Given the description of an element on the screen output the (x, y) to click on. 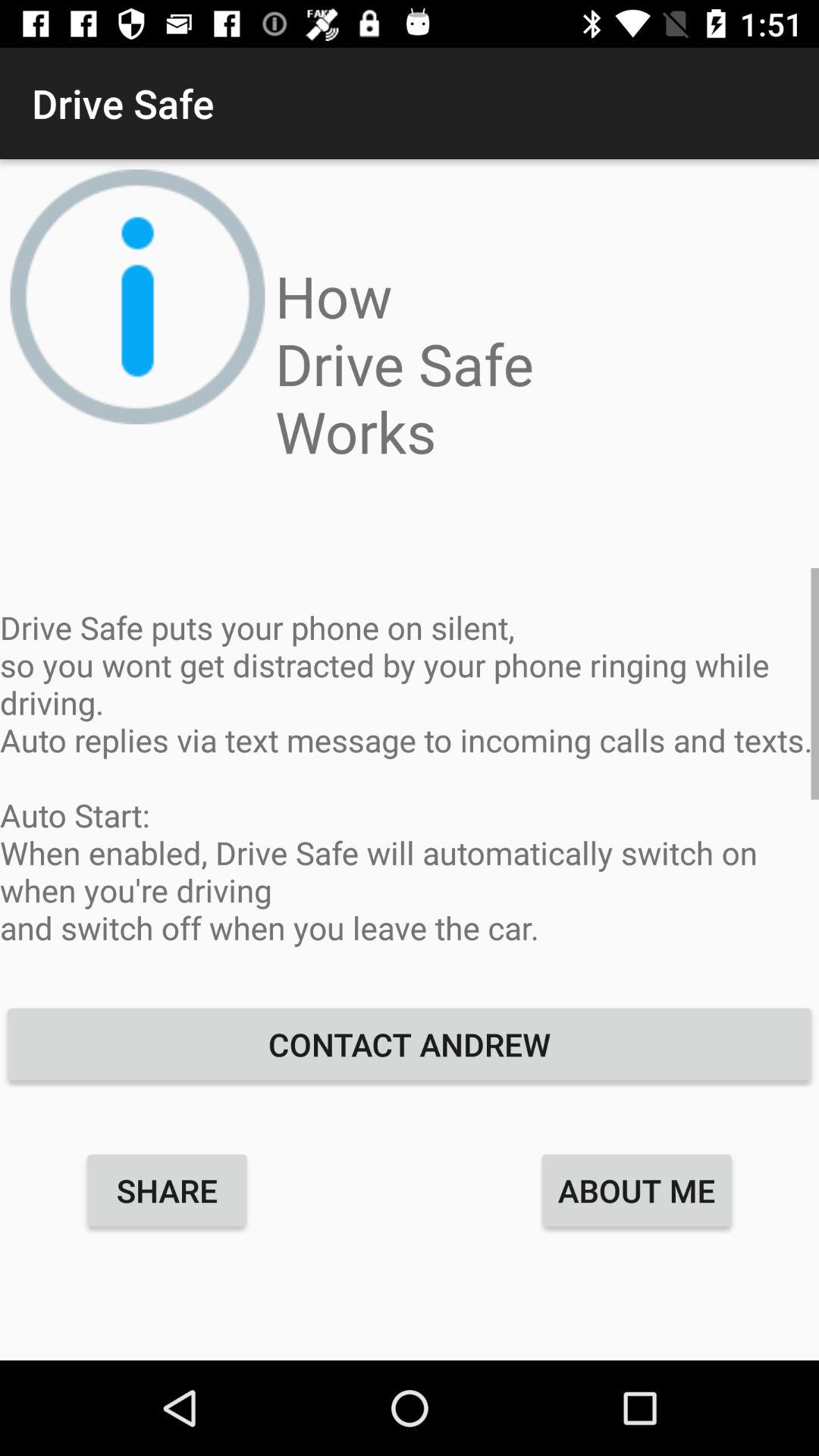
launch the icon at the bottom left corner (166, 1190)
